Given the description of an element on the screen output the (x, y) to click on. 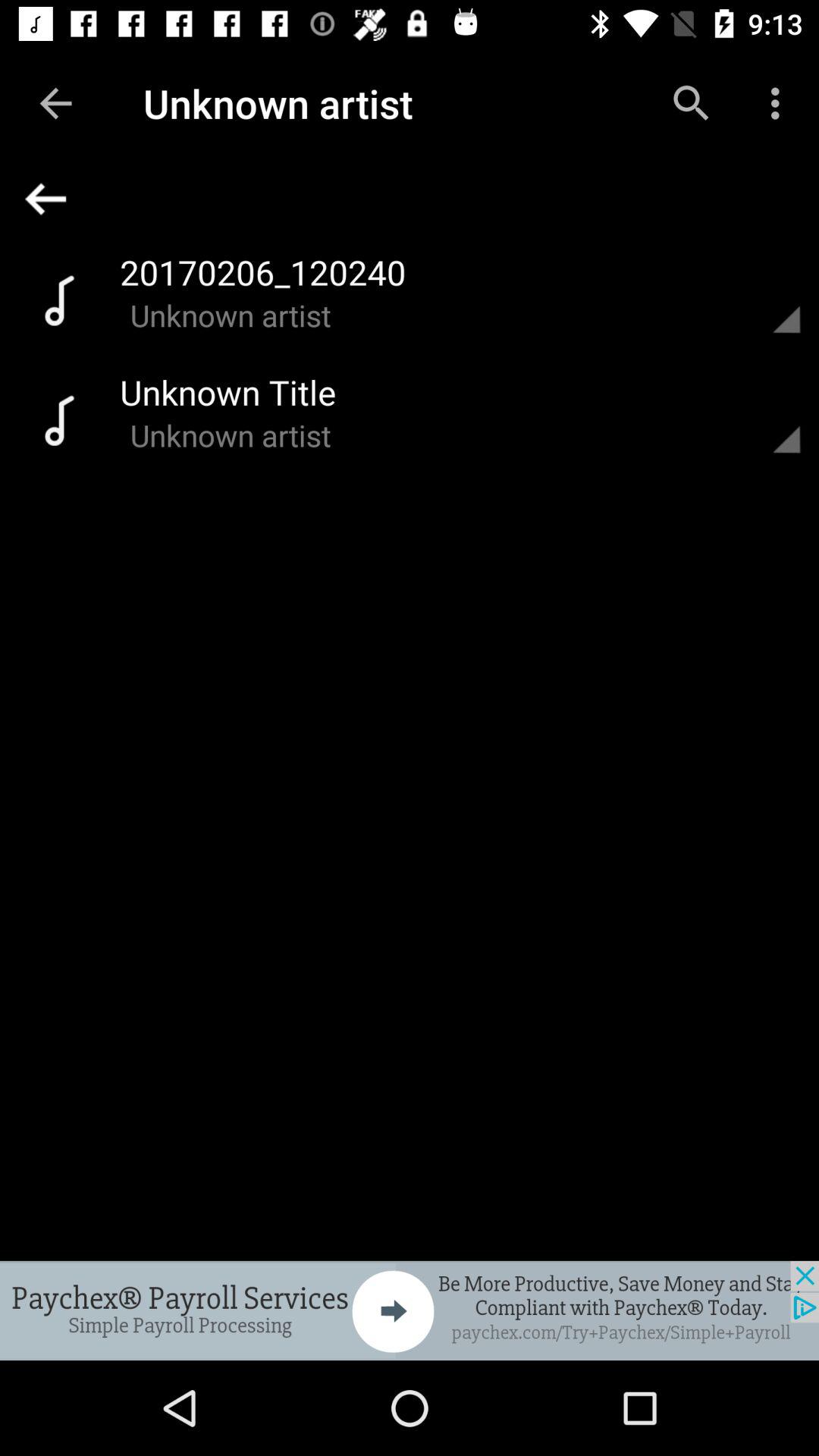
more choices option (768, 298)
